Given the description of an element on the screen output the (x, y) to click on. 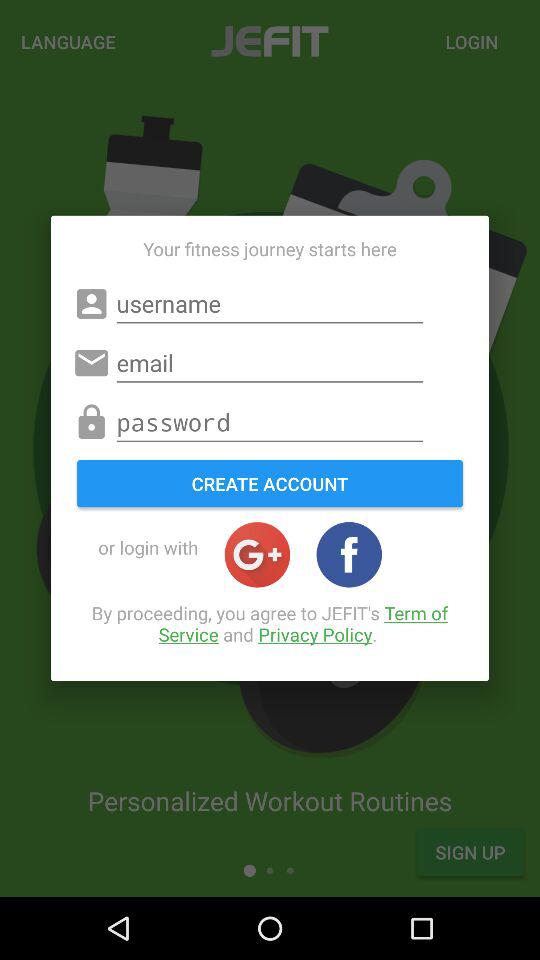
enter username (269, 303)
